Given the description of an element on the screen output the (x, y) to click on. 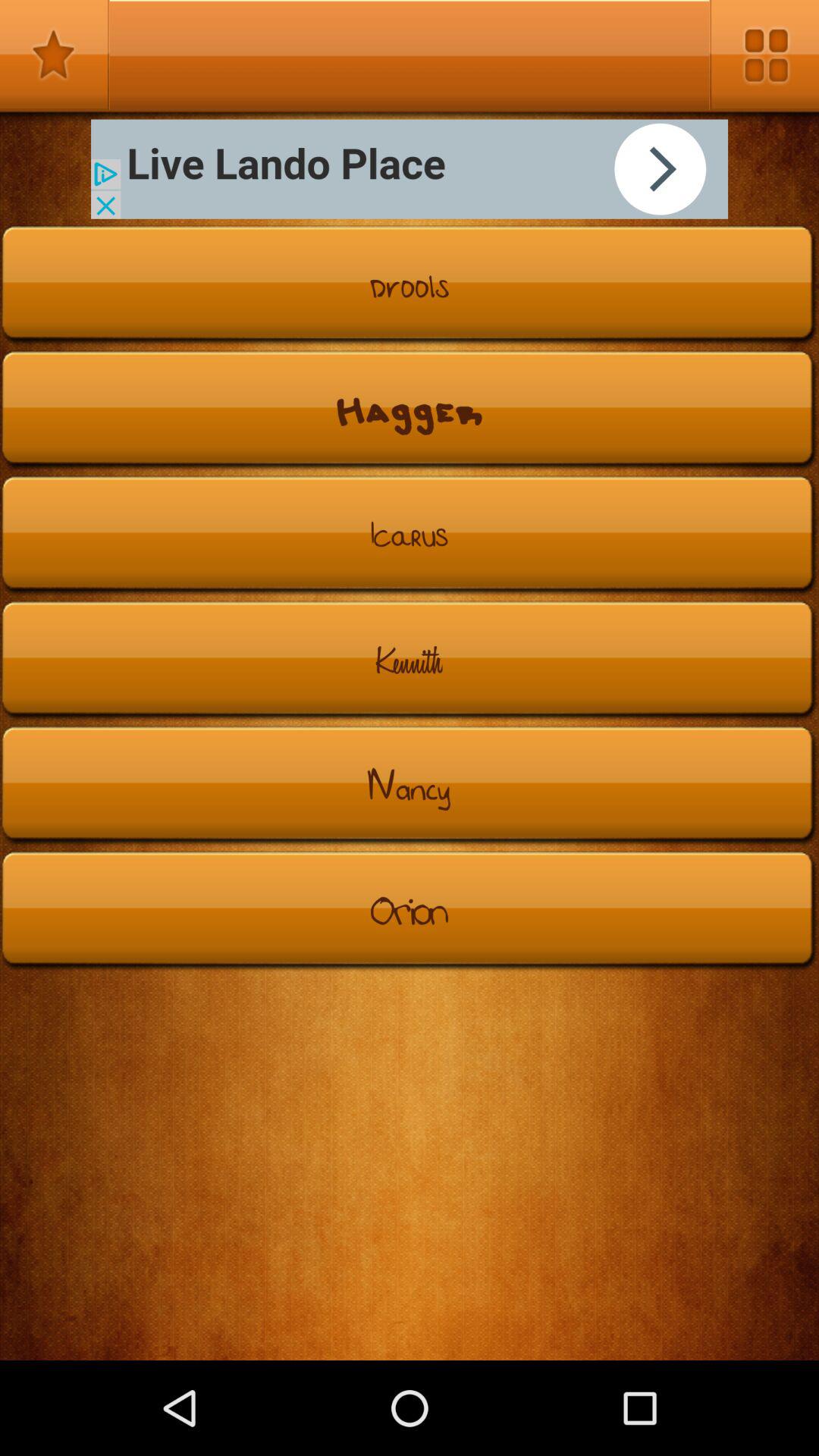
open the advertisement (409, 168)
